Given the description of an element on the screen output the (x, y) to click on. 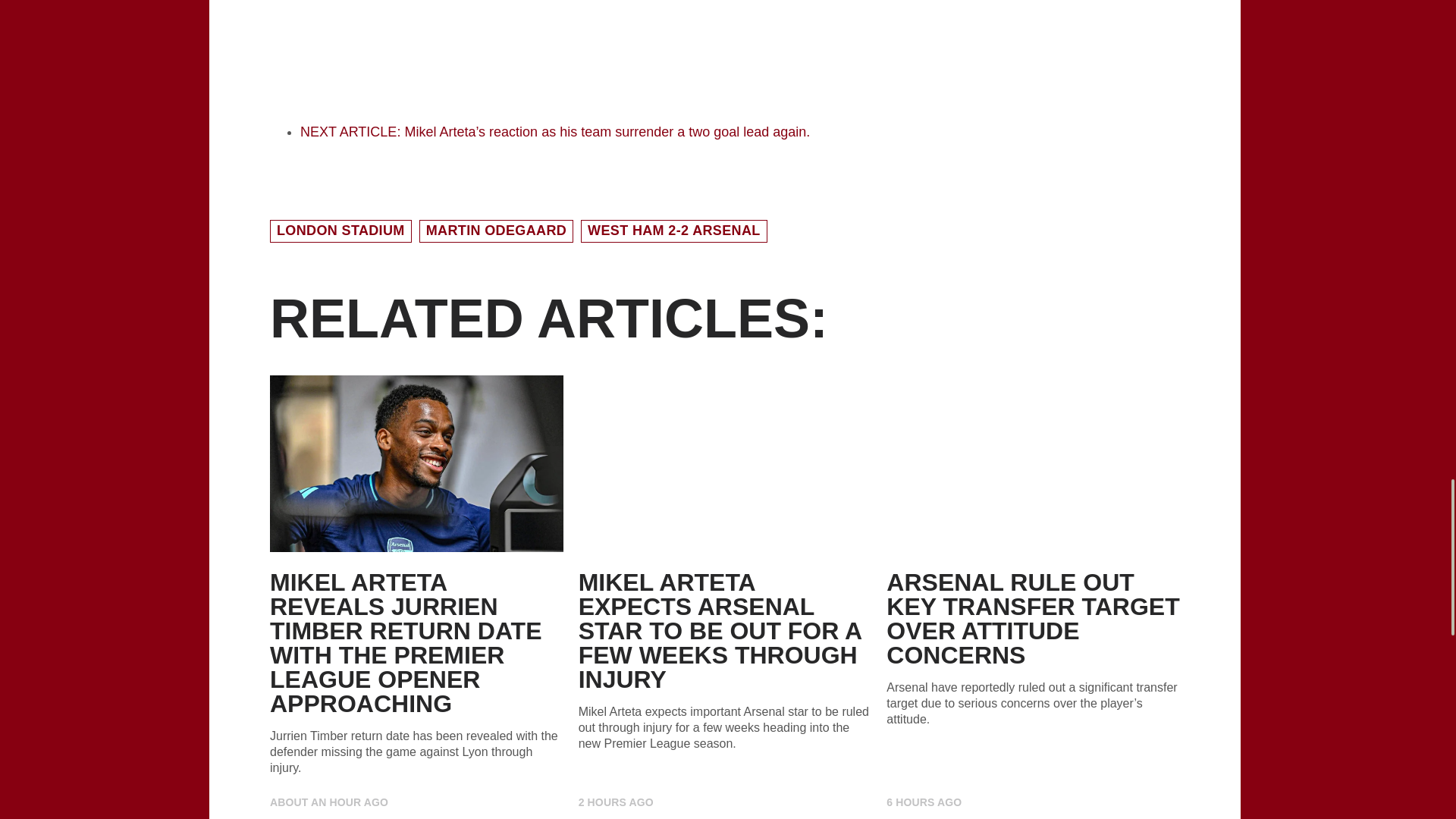
MARTIN ODEGAARD (496, 231)
WEST HAM 2-2 ARSENAL (673, 231)
LONDON STADIUM (340, 231)
ARSENAL RULE OUT KEY TRANSFER TARGET OVER ATTITUDE CONCERNS (1032, 618)
